Given the description of an element on the screen output the (x, y) to click on. 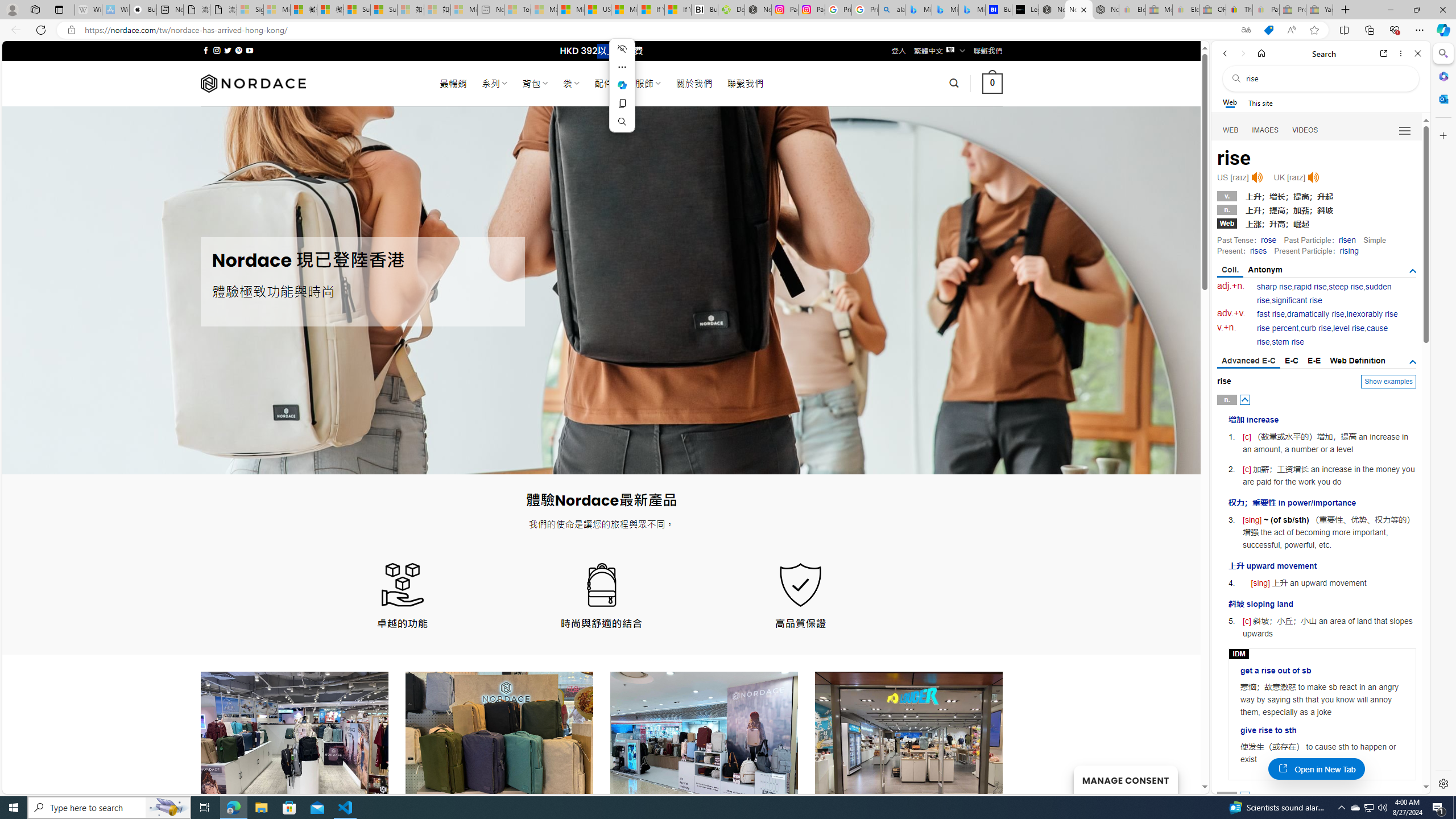
MANAGE CONSENT (1125, 779)
This site has coupons! Shopping in Microsoft Edge (1268, 29)
  0   (992, 83)
alabama high school quarterback dies - Search (891, 9)
Mini menu on text selection (621, 91)
stem rise (1287, 341)
Microsoft account | Account Checkup - Sleeping (463, 9)
Microsoft Bing Travel - Shangri-La Hotel Bangkok (971, 9)
